Given the description of an element on the screen output the (x, y) to click on. 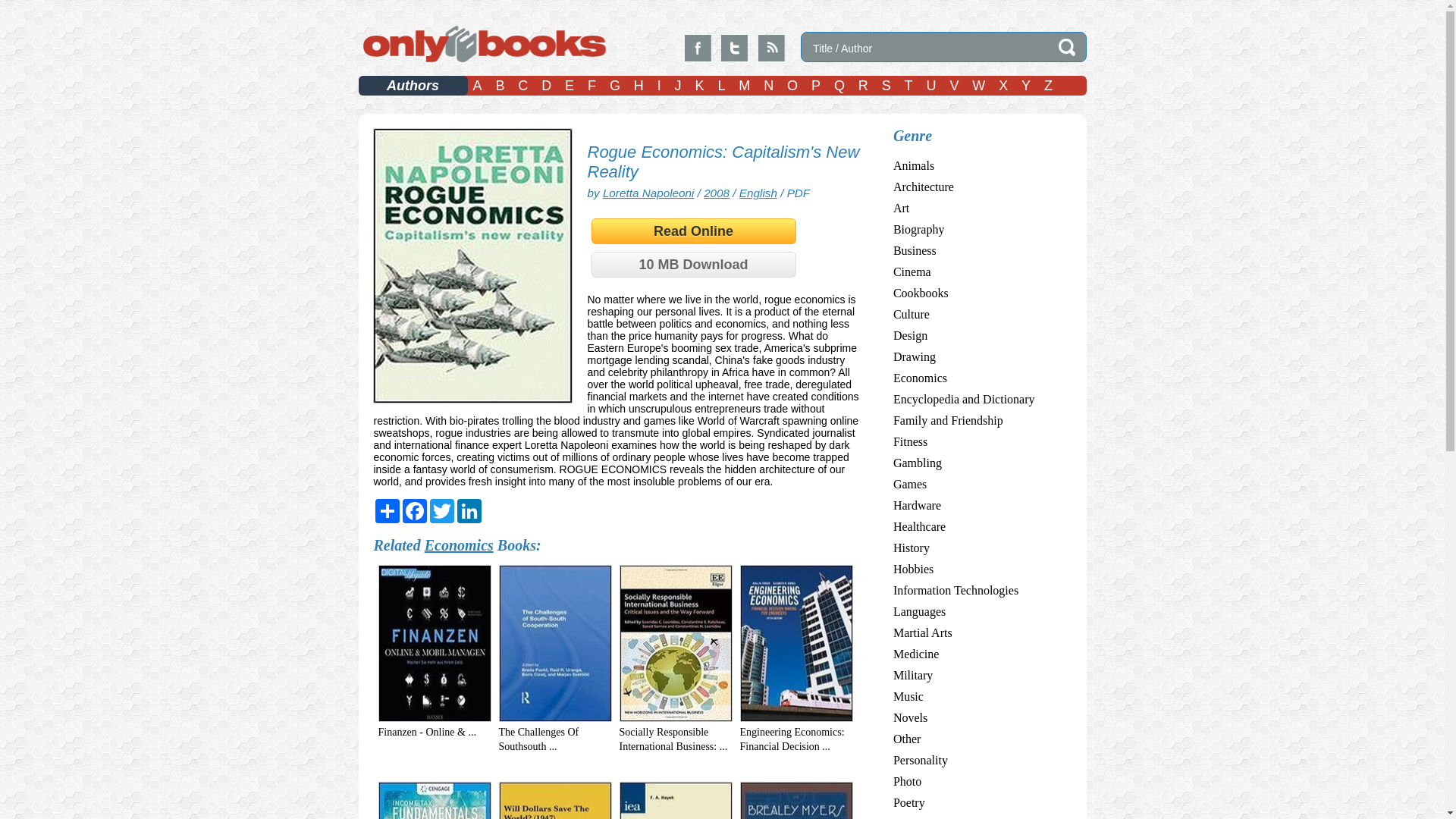
R (863, 85)
Q (839, 85)
2008 (716, 192)
Z (1048, 85)
G (615, 85)
V (953, 85)
T (908, 85)
More Books by Loretta Napoleoni (648, 192)
E (569, 85)
Y (1025, 85)
W (978, 85)
O (792, 85)
